Given the description of an element on the screen output the (x, y) to click on. 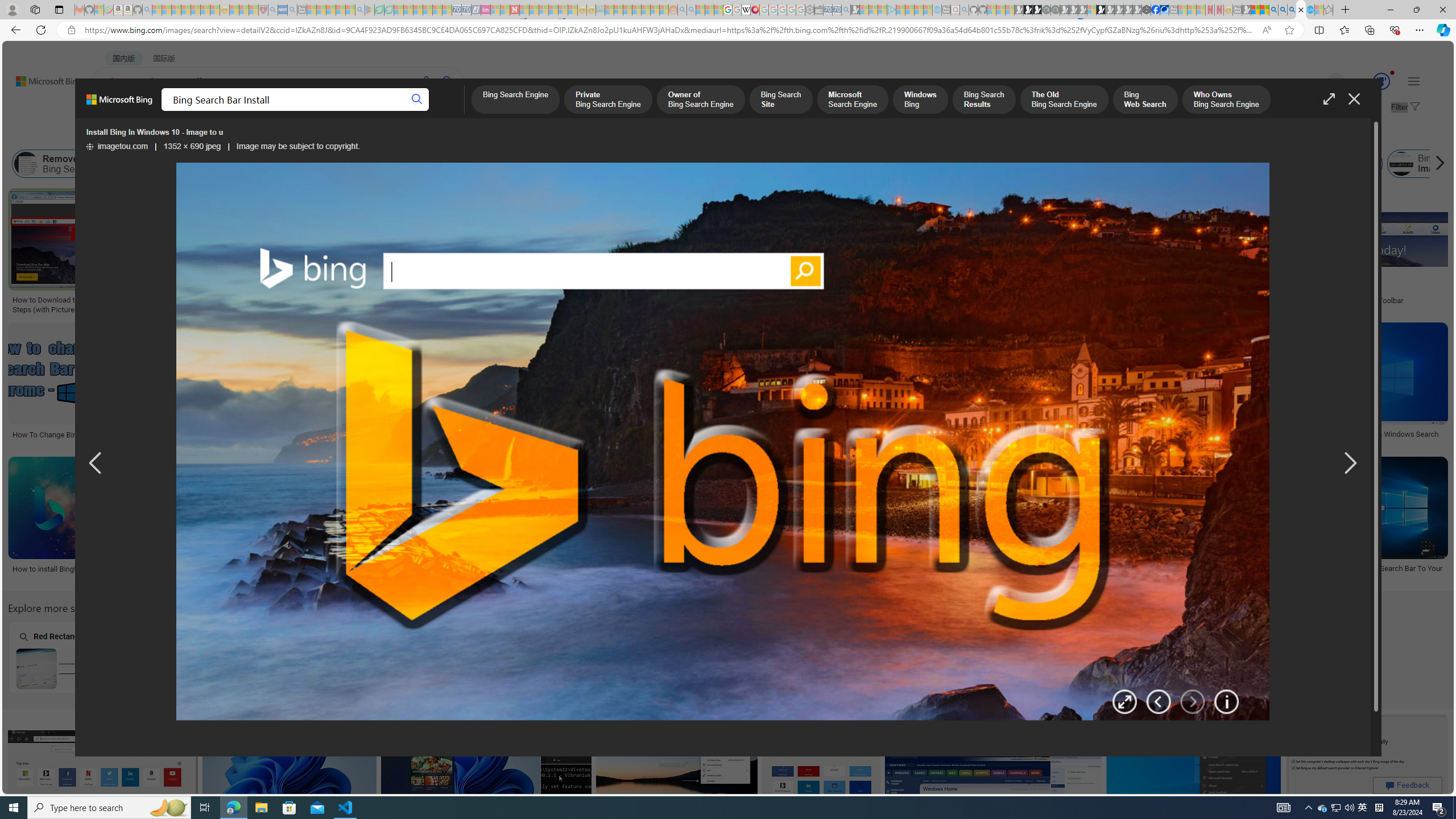
Bing Search Engine (514, 100)
How to install Bing!Save (94, 521)
Install Bing In Windows 10 - Image to u (250, 568)
Search using voice (426, 80)
Mugs (704, 261)
Settings - Sleeping (809, 9)
Expert Portfolios - Sleeping (636, 9)
